Given the description of an element on the screen output the (x, y) to click on. 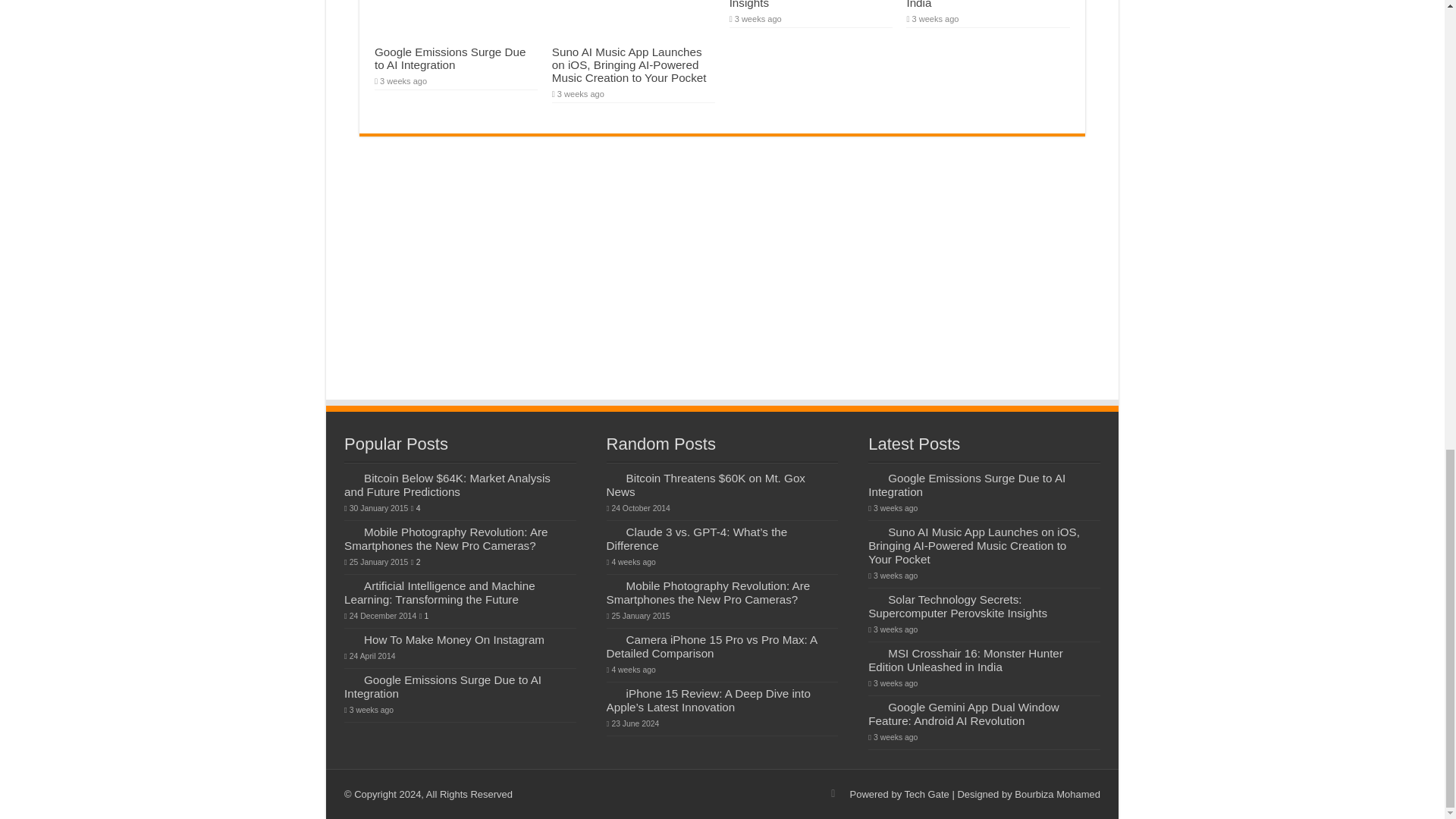
Google Emissions Surge Due to AI Integration (449, 58)
MSI Crosshair 16: Monster Hunter Edition Unleashed in India (977, 4)
Solar Technology Secrets: Supercomputer Perovskite Insights (796, 4)
